Given the description of an element on the screen output the (x, y) to click on. 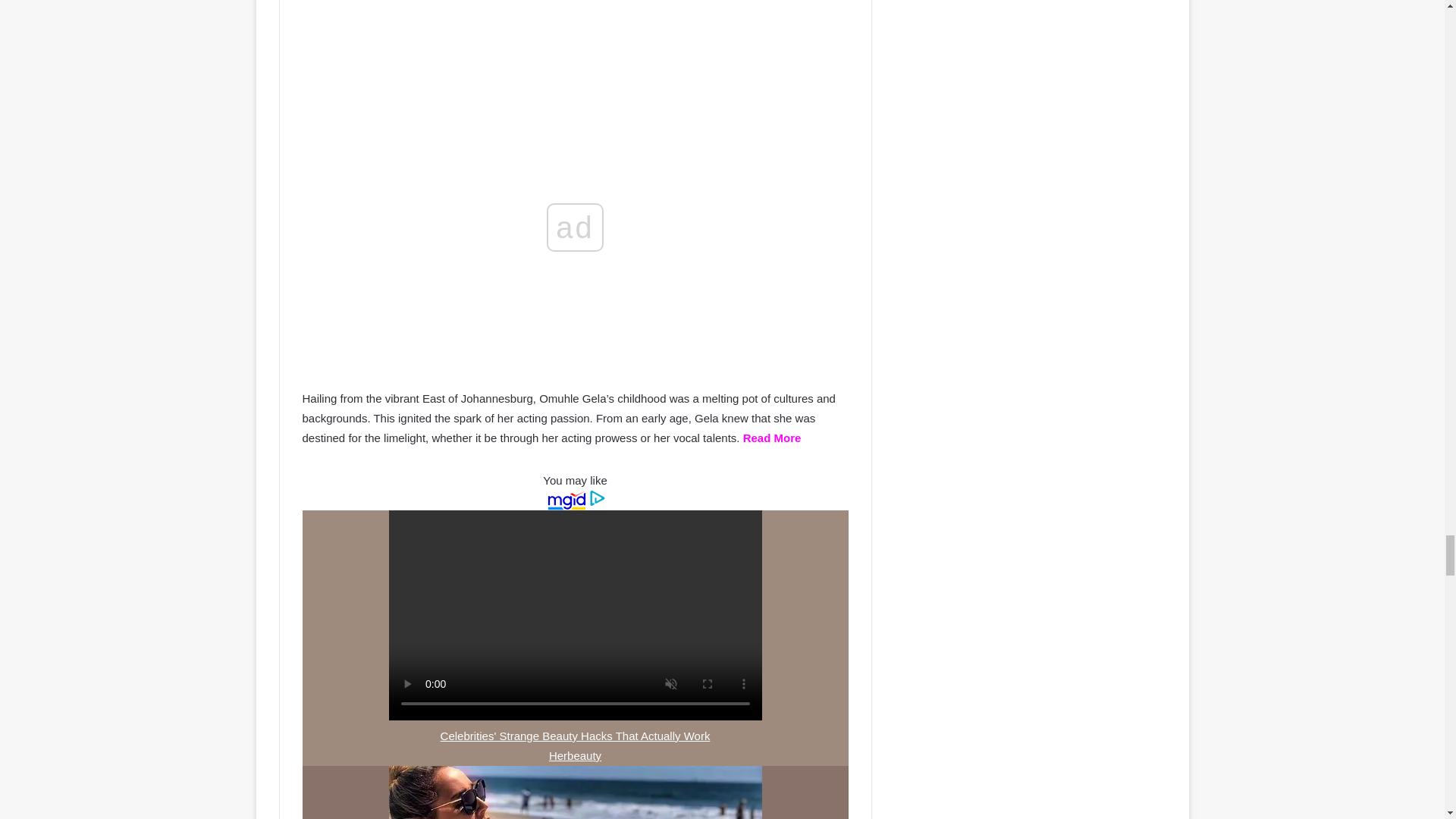
Read More (772, 437)
